Given the description of an element on the screen output the (x, y) to click on. 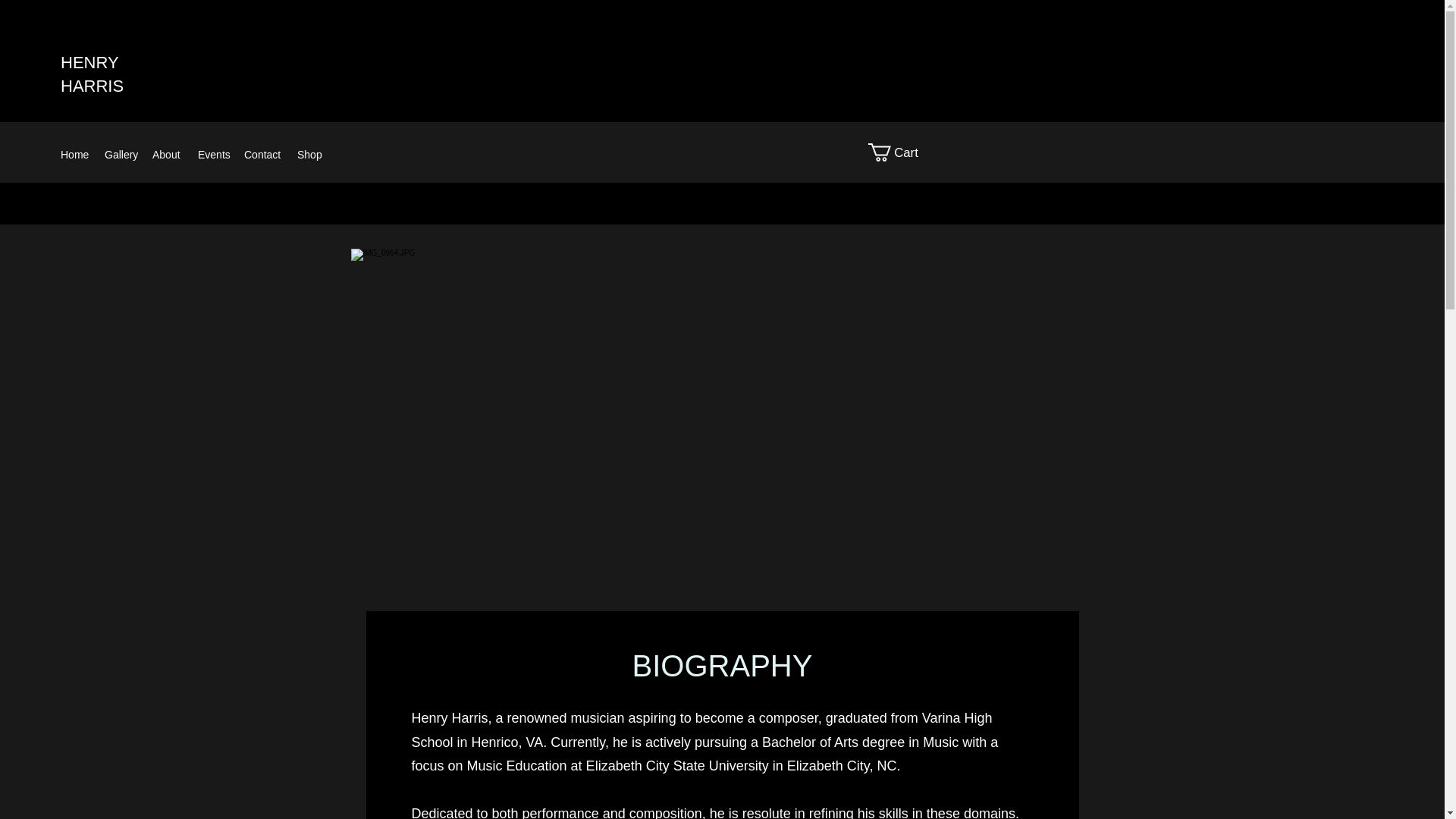
Events (212, 154)
Gallery (120, 154)
Shop (309, 154)
About (167, 154)
HENRY HARRIS (92, 74)
Contact (262, 154)
Home (74, 154)
Cart (903, 152)
Cart (903, 152)
